Given the description of an element on the screen output the (x, y) to click on. 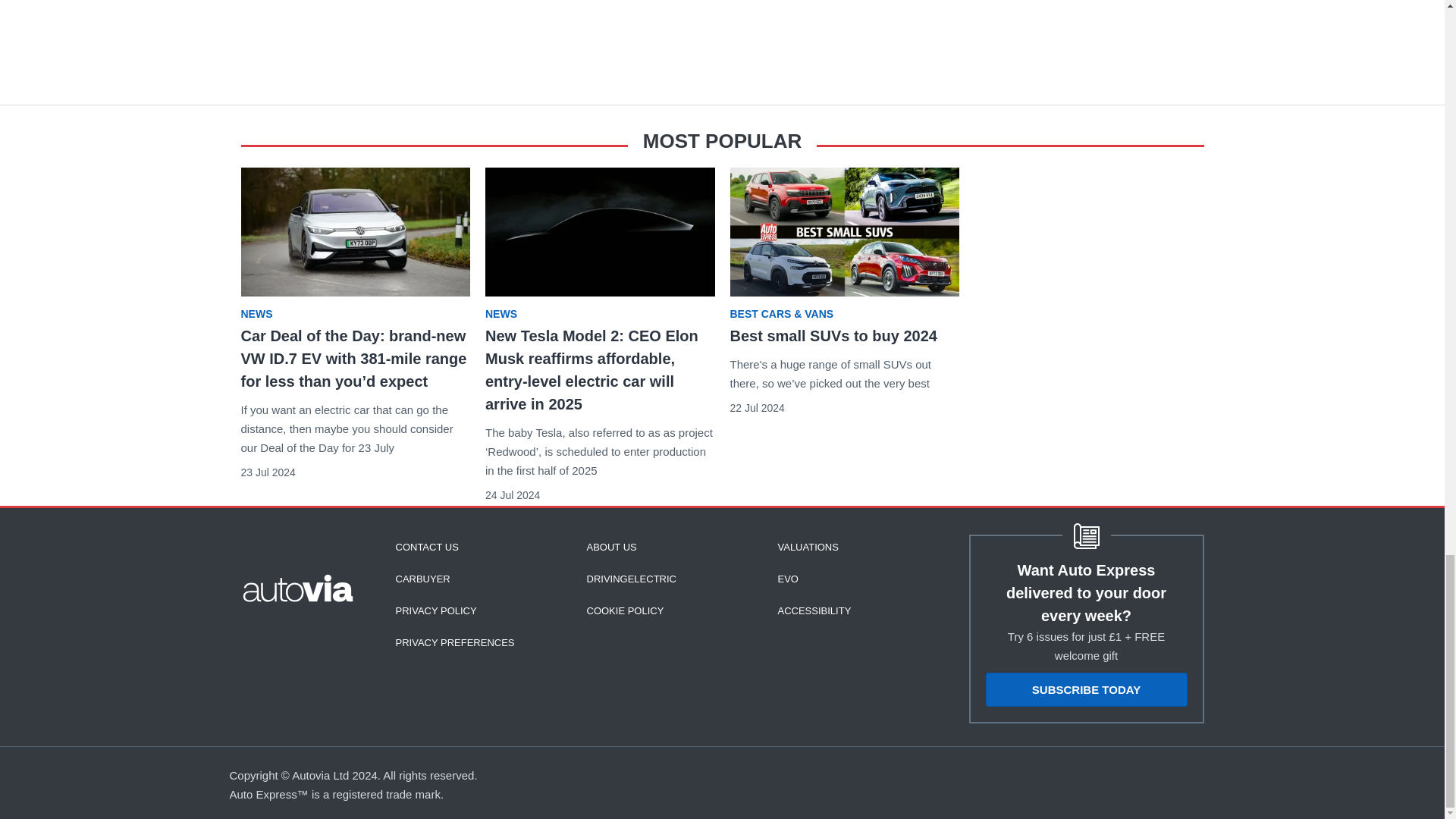
SUBSCRIBE TODAY (1086, 689)
